Given the description of an element on the screen output the (x, y) to click on. 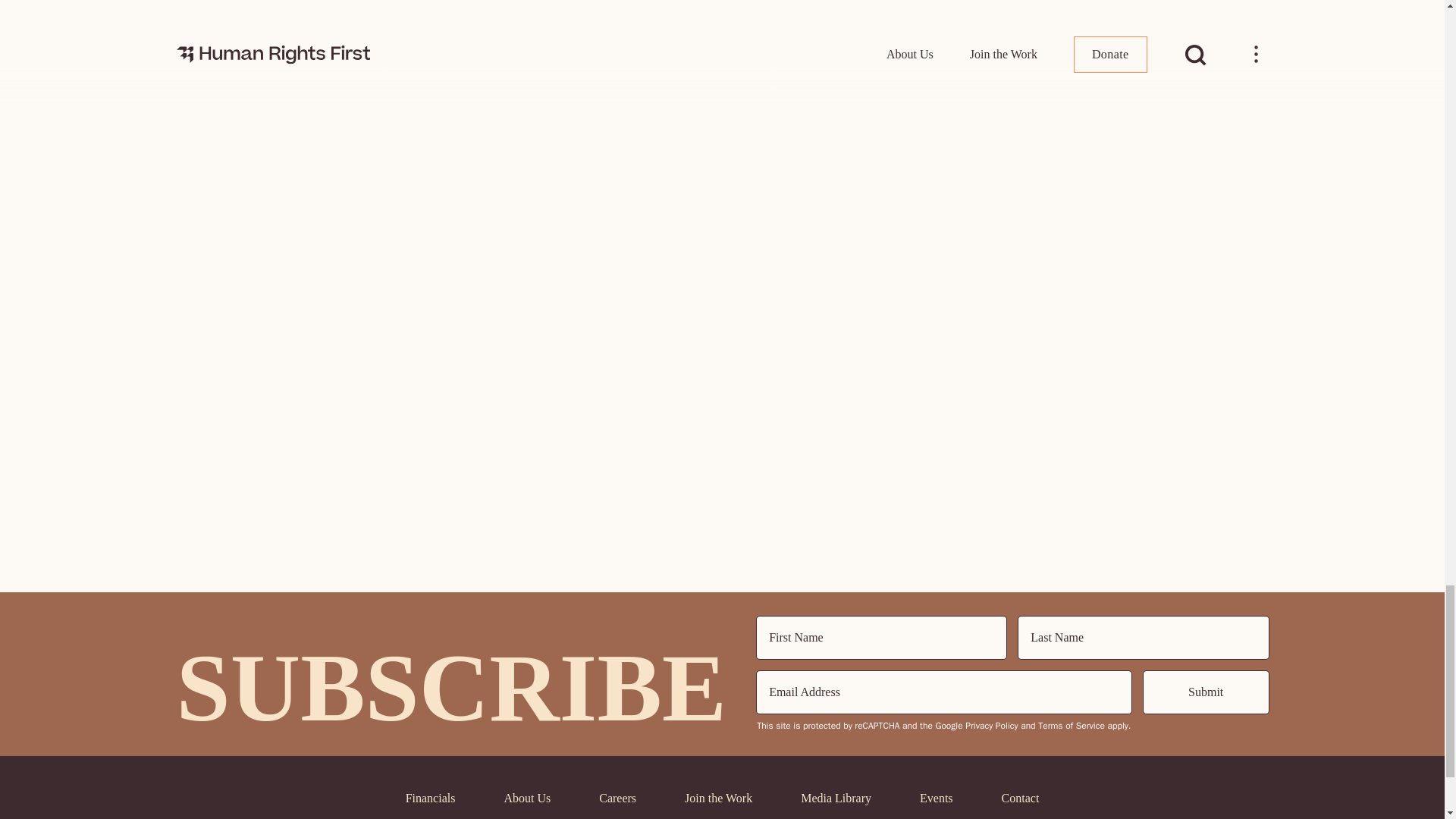
Submit (1205, 691)
